Given the description of an element on the screen output the (x, y) to click on. 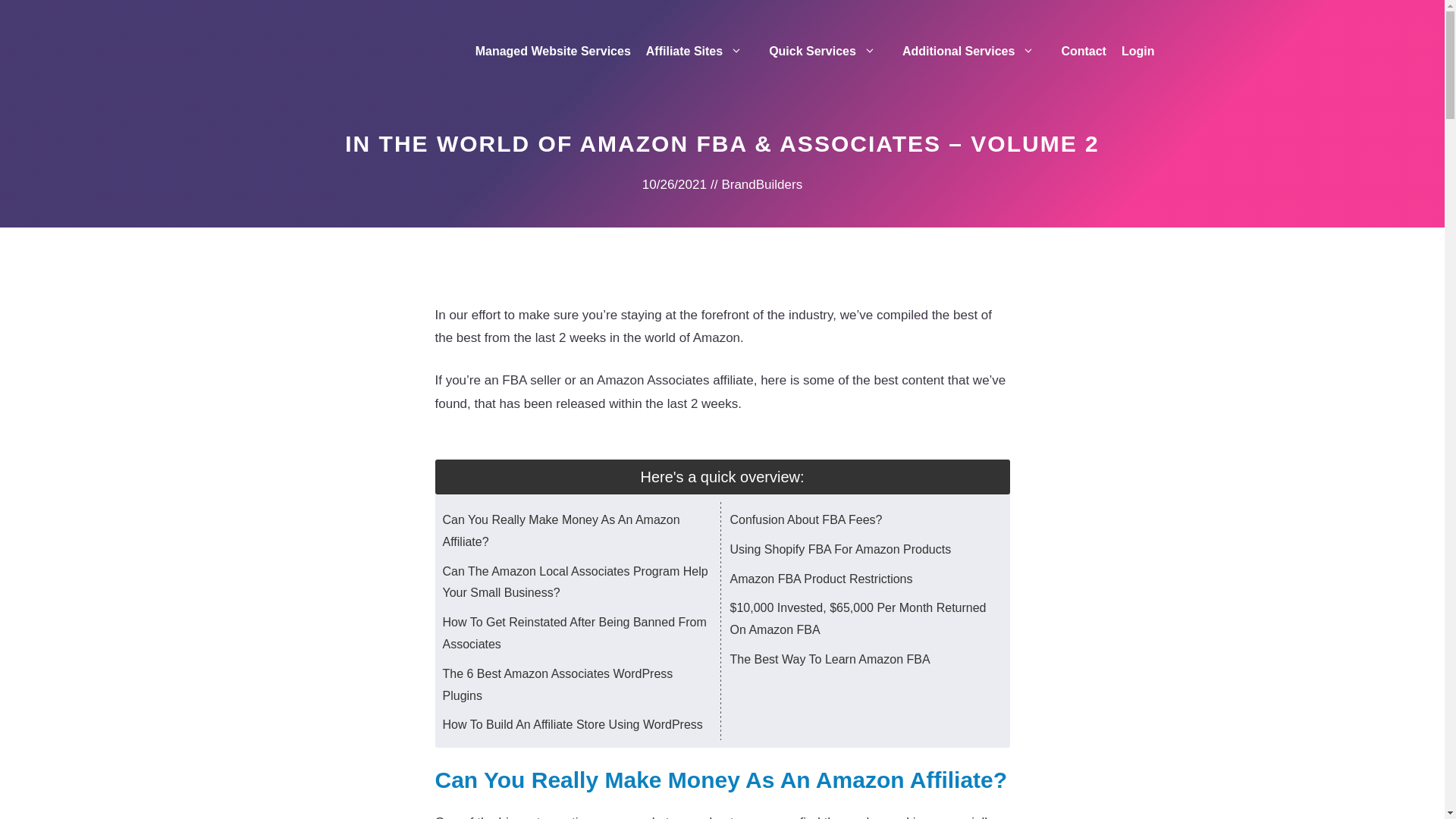
Affiliate Sites (700, 51)
Login (1137, 51)
Managed Website Services (553, 51)
Contact (1082, 51)
Additional Services (974, 51)
Quick Services (828, 51)
